Given the description of an element on the screen output the (x, y) to click on. 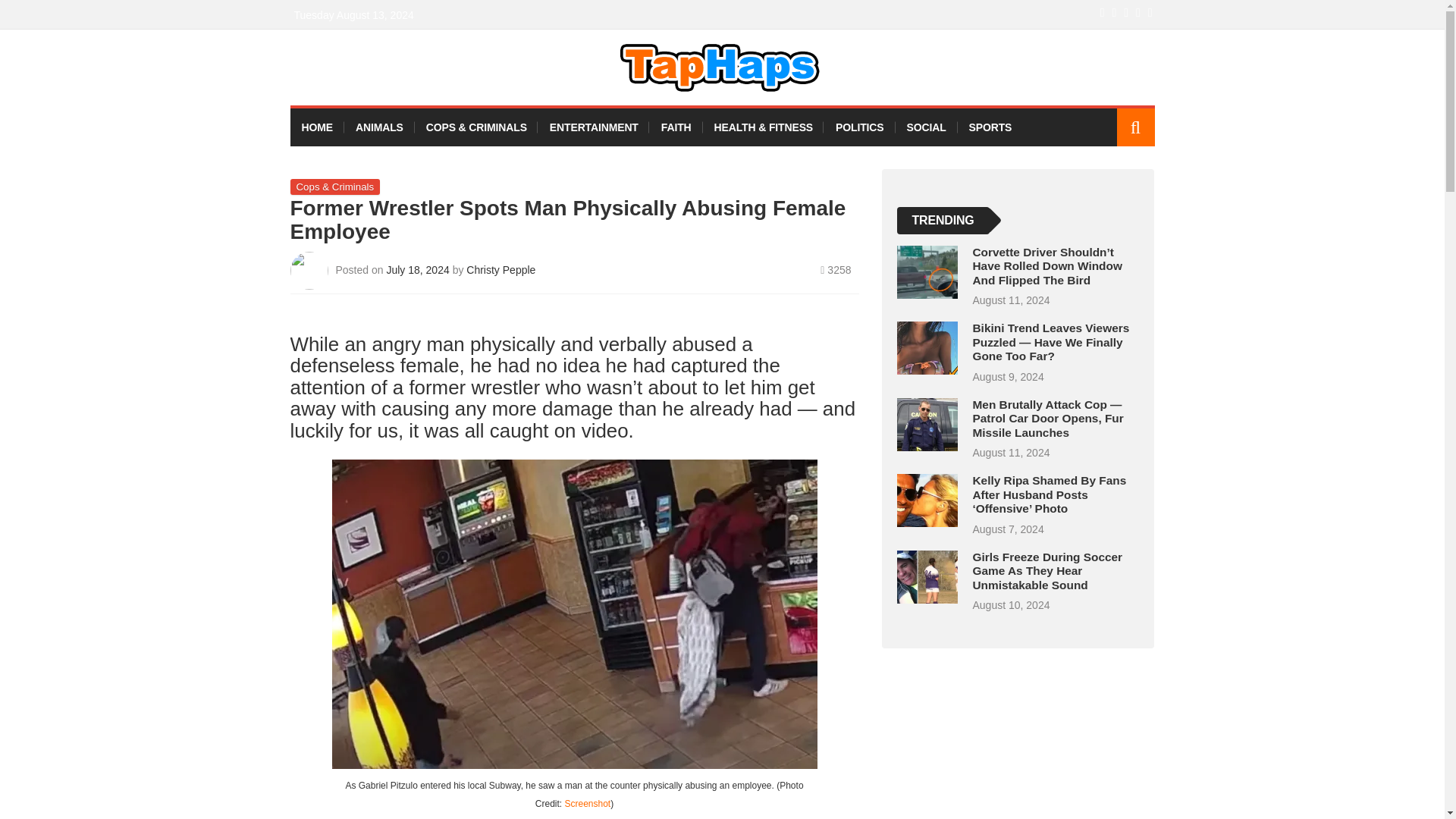
ENTERTAINMENT (593, 127)
Christy Pepple (500, 269)
SOCIAL (925, 127)
July 18, 2024 (418, 269)
POLITICS (859, 127)
ANIMALS (378, 127)
Screenshot (587, 803)
SPORTS (990, 127)
FAITH (676, 127)
HOME (316, 127)
